Given the description of an element on the screen output the (x, y) to click on. 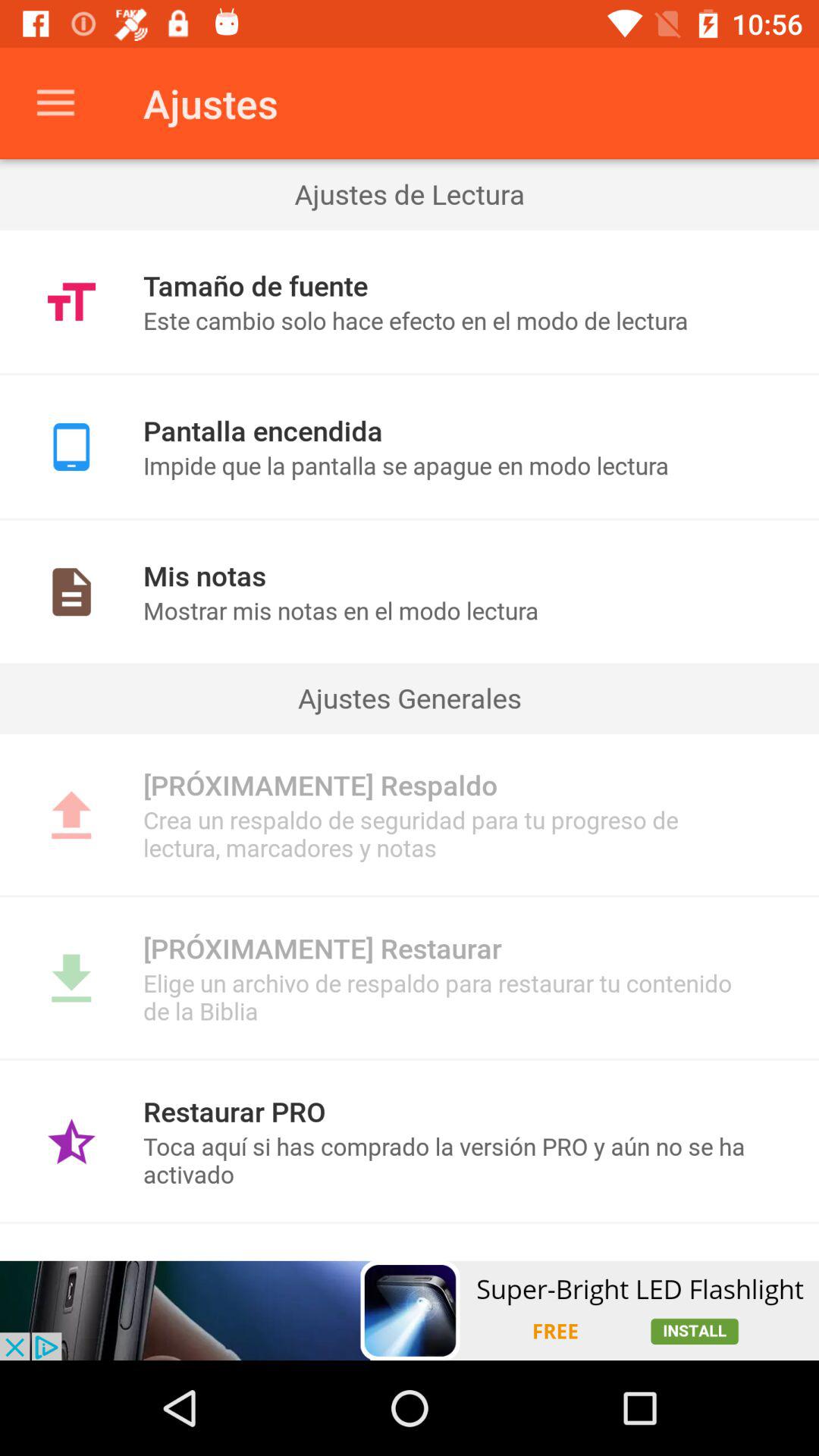
open item below the crea un respaldo item (409, 896)
